Given the description of an element on the screen output the (x, y) to click on. 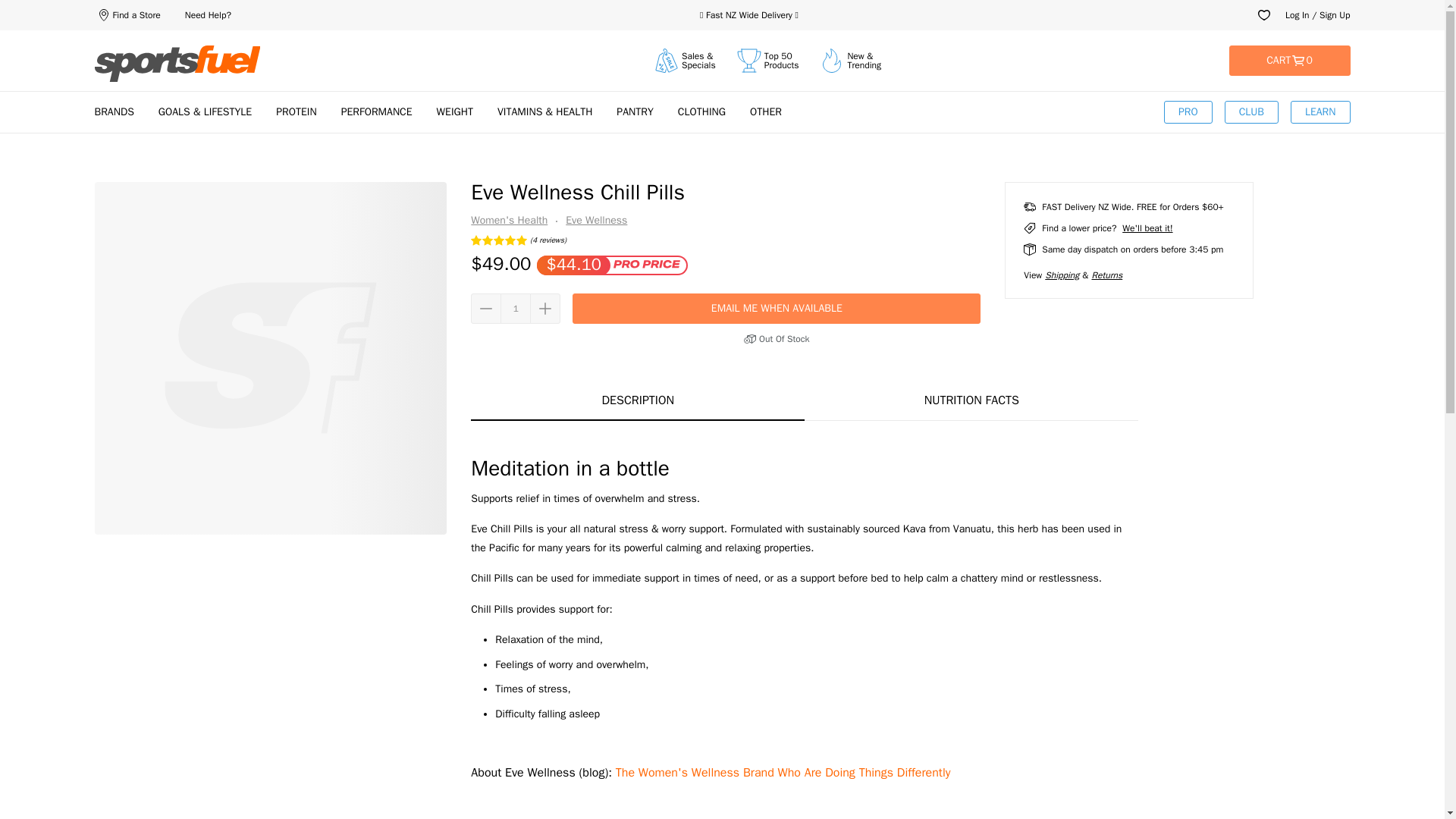
PANTRY (634, 111)
LEARN (1320, 111)
1 (515, 308)
PRO (1187, 111)
Eve Wellness (587, 220)
Returns (1106, 275)
Shipping (1061, 275)
WEIGHT (454, 111)
EMAIL ME WHEN AVAILABLE (775, 308)
Need Help? (208, 14)
